Given the description of an element on the screen output the (x, y) to click on. 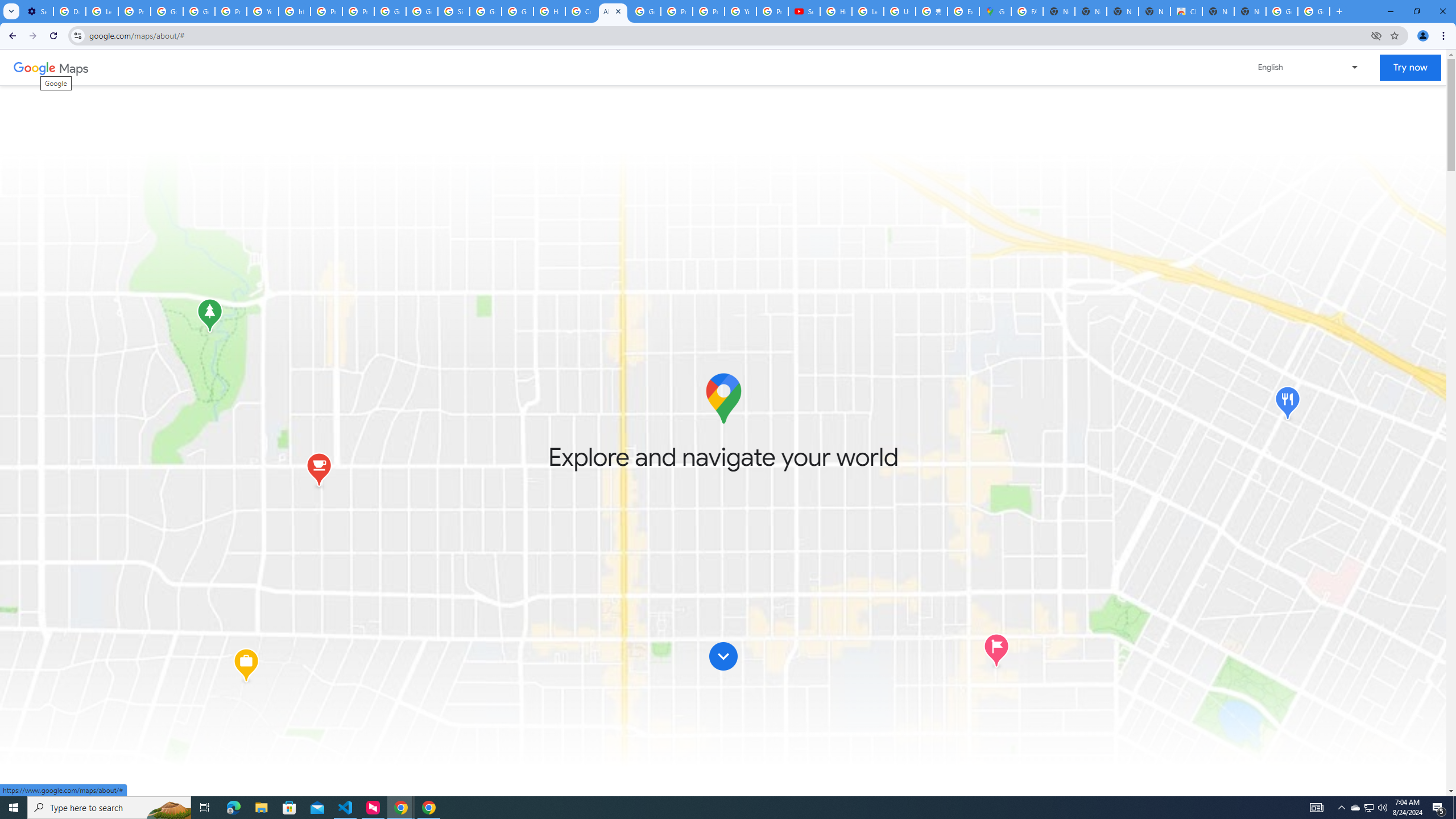
You (1422, 35)
Google Account Help (166, 11)
Back (10, 35)
YouTube (740, 11)
View site information (77, 35)
Settings - Performance (37, 11)
Privacy Help Center - Policies Help (708, 11)
Delete photos & videos - Computer - Google Photos Help (69, 11)
